Given the description of an element on the screen output the (x, y) to click on. 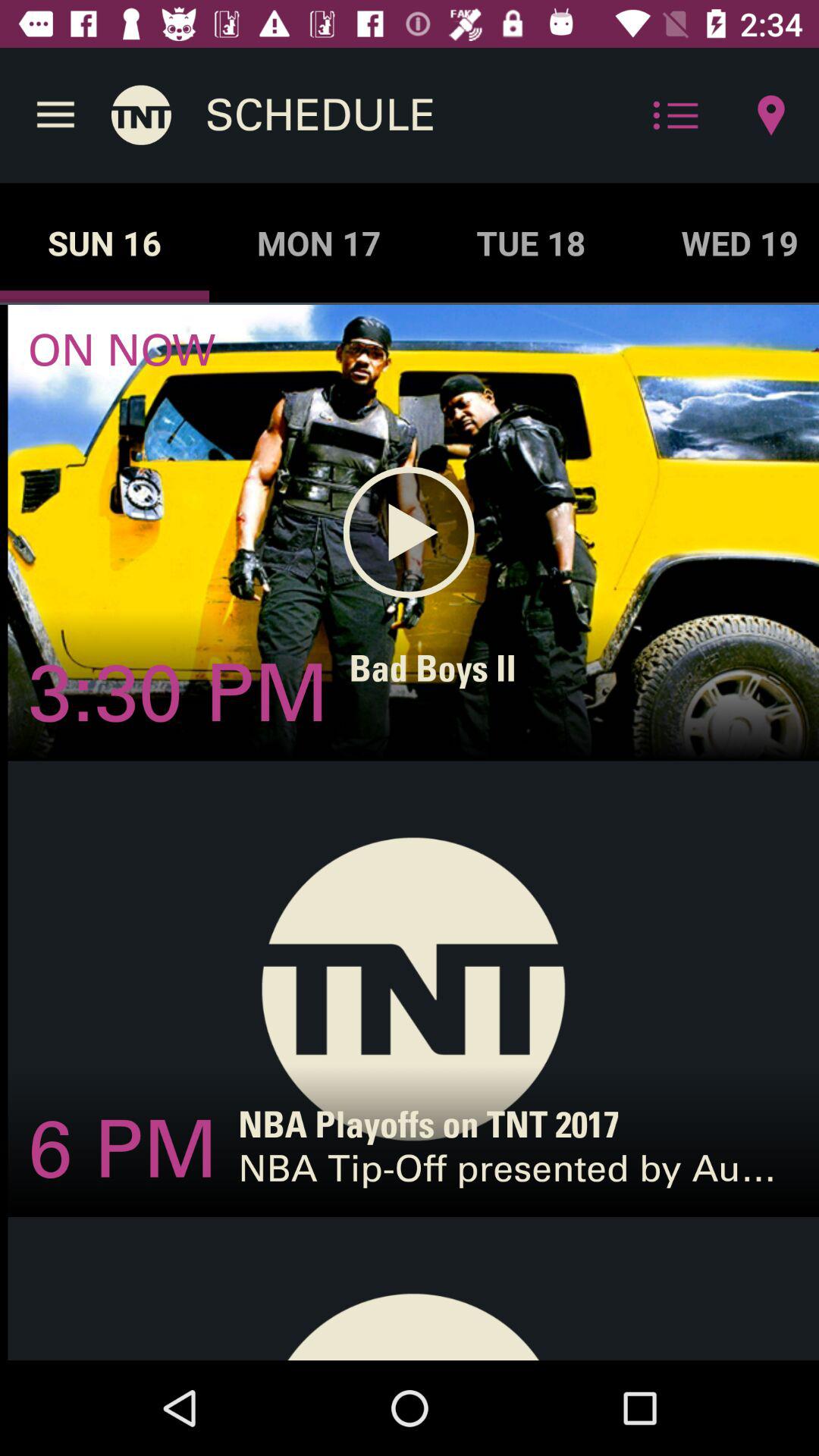
click the icon above the sun 16 item (55, 115)
